Given the description of an element on the screen output the (x, y) to click on. 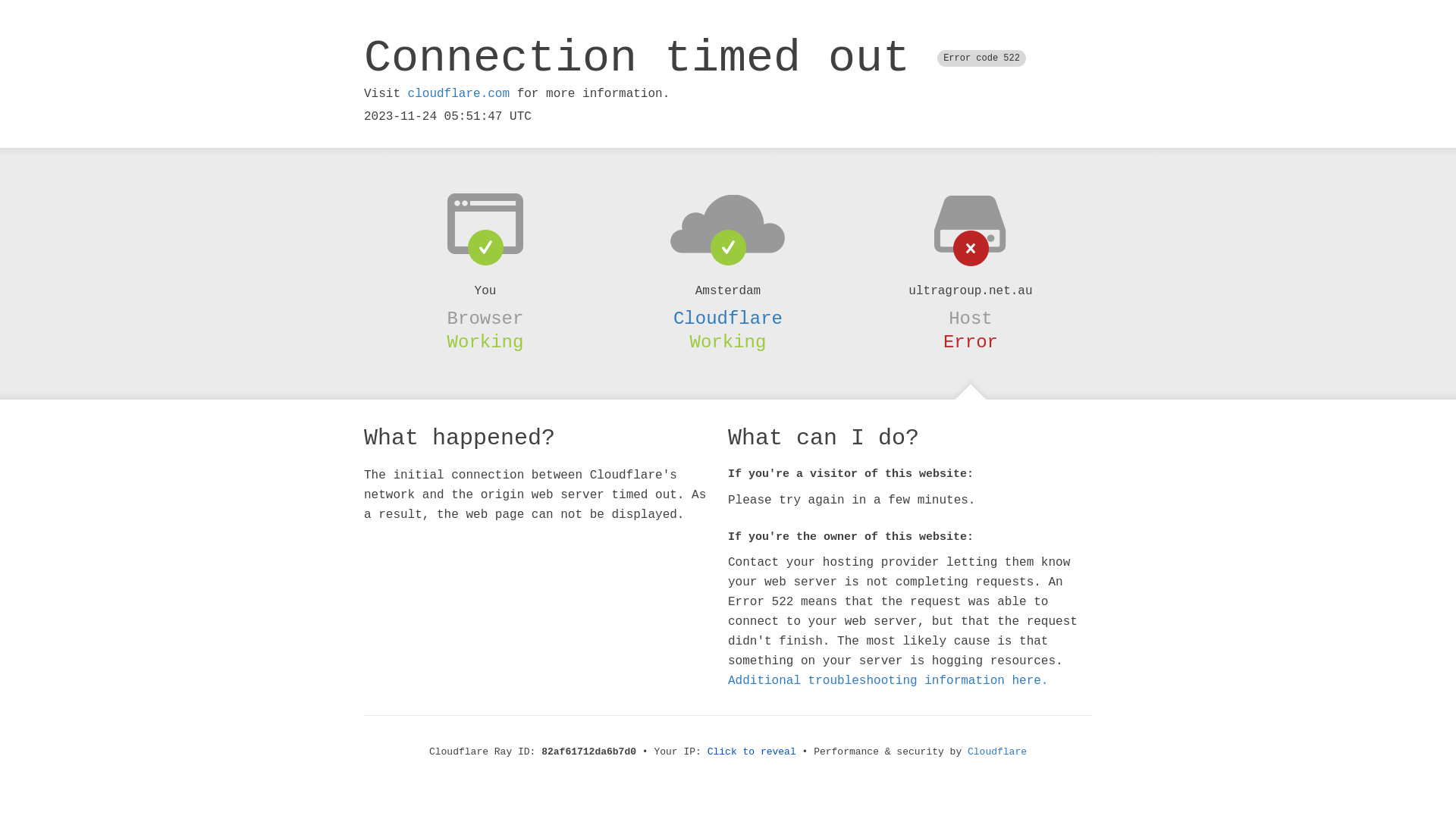
cloudflare.com Element type: text (458, 93)
Cloudflare Element type: text (727, 318)
Additional troubleshooting information here. Element type: text (888, 680)
Click to reveal Element type: text (751, 751)
Cloudflare Element type: text (996, 751)
